Given the description of an element on the screen output the (x, y) to click on. 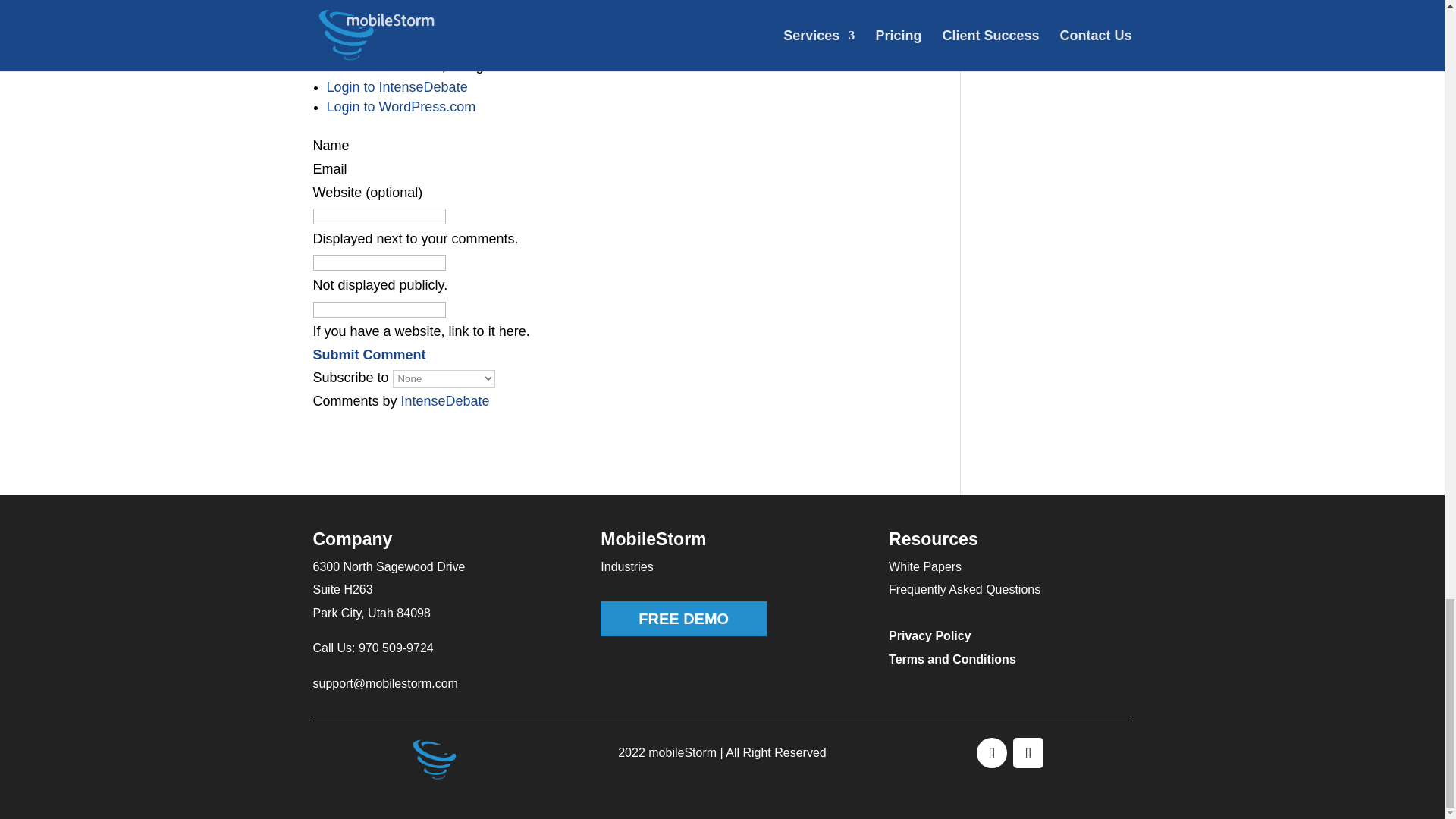
Follow on LinkedIn (1028, 752)
Footer (434, 759)
Follow on Facebook (991, 752)
